Given the description of an element on the screen output the (x, y) to click on. 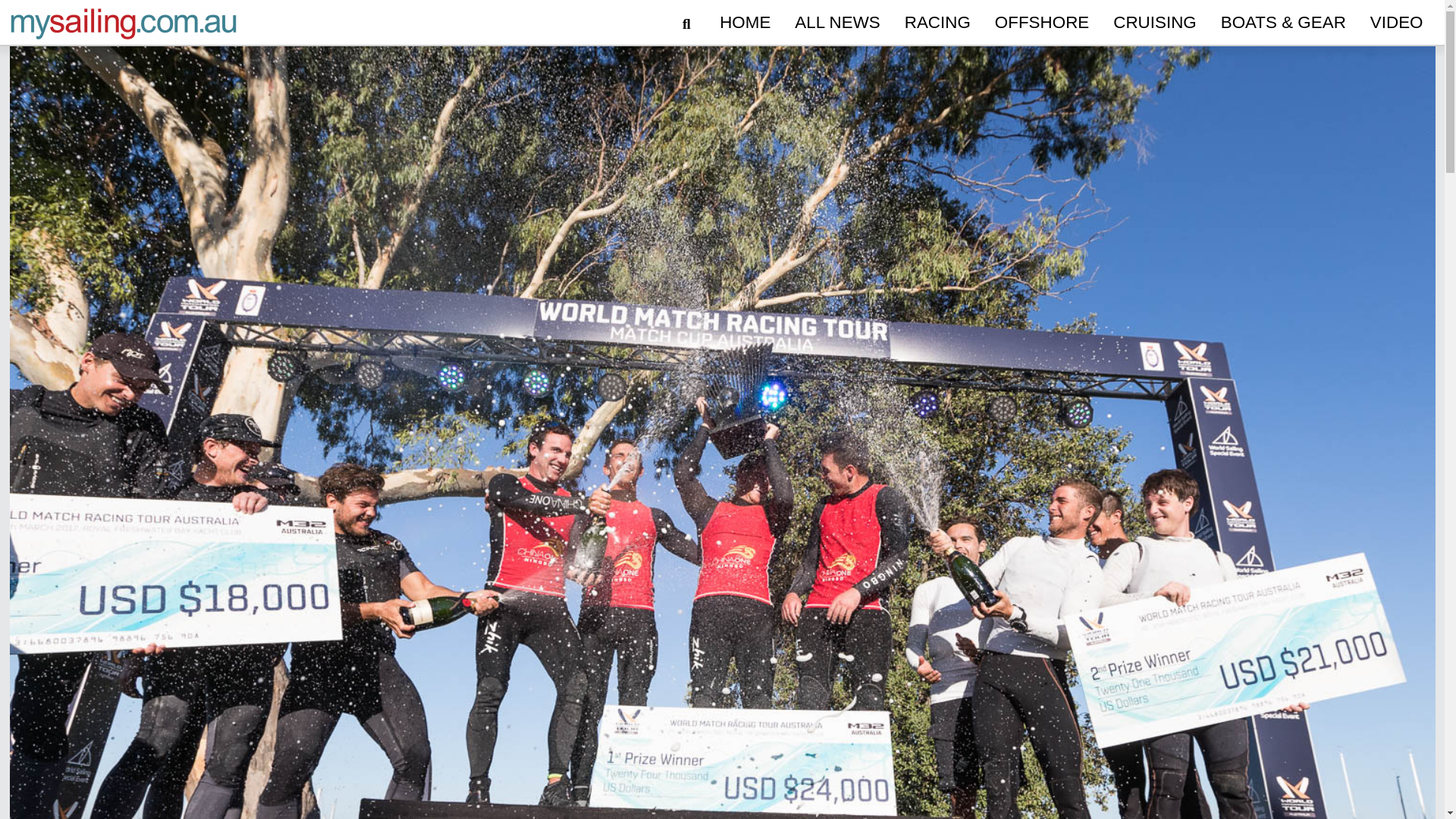
Cruising (1154, 22)
CRUISING (1154, 22)
Video (1396, 22)
Home (744, 22)
All News (837, 22)
OFFSHORE (1041, 22)
Racing (937, 22)
VIDEO (1396, 22)
HOME (744, 22)
Offshore (1041, 22)
